Given the description of an element on the screen output the (x, y) to click on. 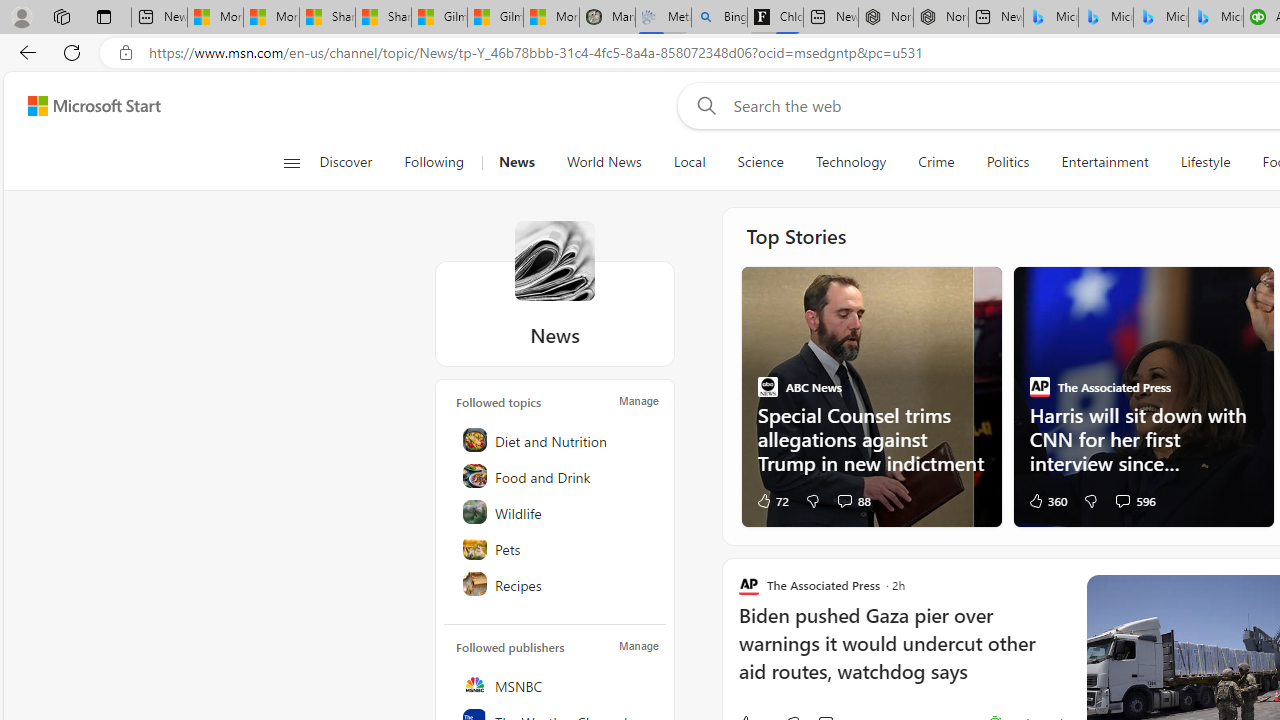
Politics (1007, 162)
Diet and Nutrition (556, 439)
Local (688, 162)
MSNBC (556, 684)
World News (603, 162)
72 Like (772, 500)
Politics (1007, 162)
Science (760, 162)
Technology (850, 162)
Lifestyle (1205, 162)
